Given the description of an element on the screen output the (x, y) to click on. 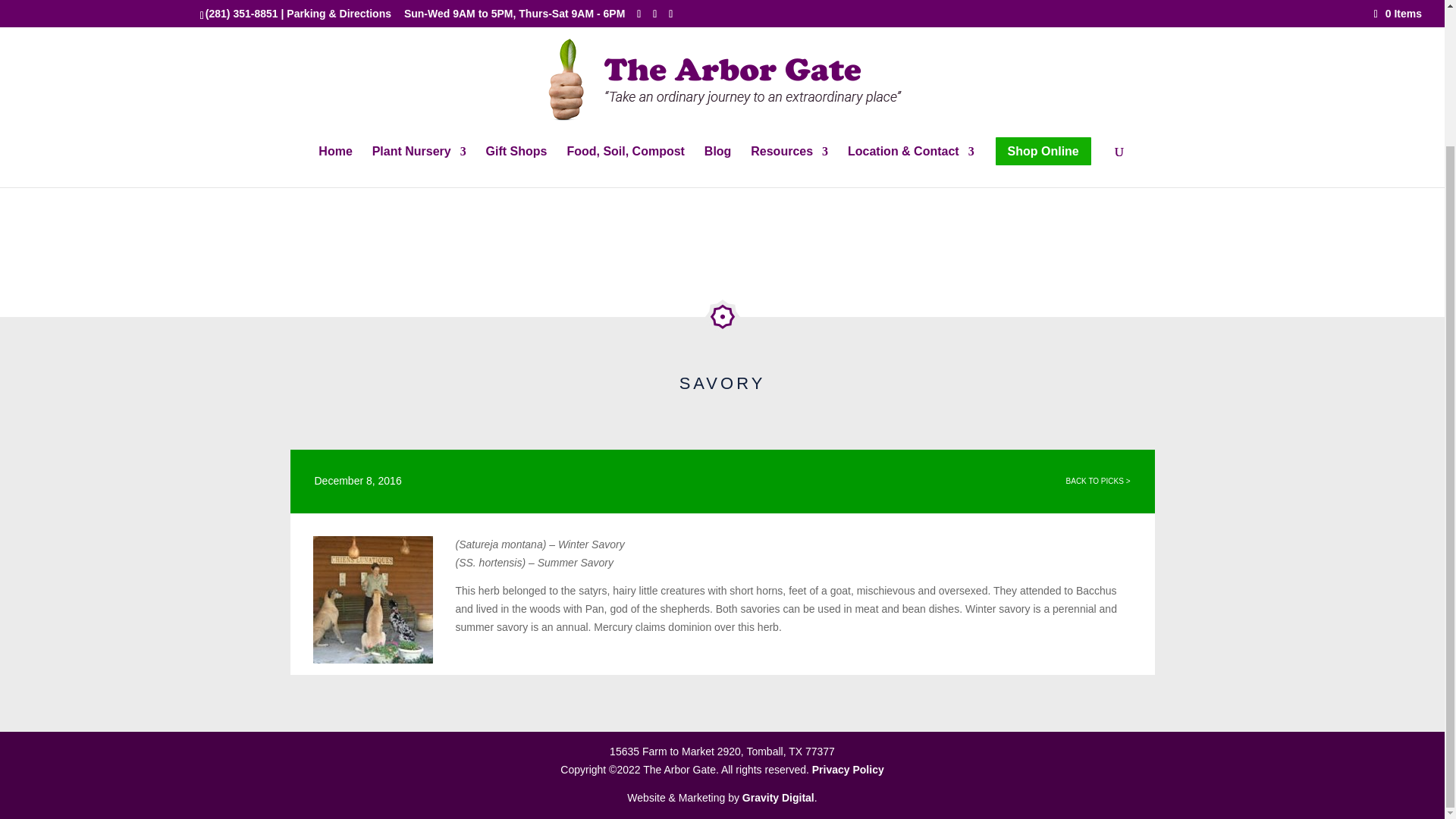
Food, Soil, Compost (625, 5)
Gift Shops (516, 5)
Shop Online (1043, 10)
Gravity Digital (777, 797)
Plant Nursery (418, 5)
Blog (718, 5)
Resources (789, 5)
Home (335, 5)
Privacy Policy (847, 769)
